Given the description of an element on the screen output the (x, y) to click on. 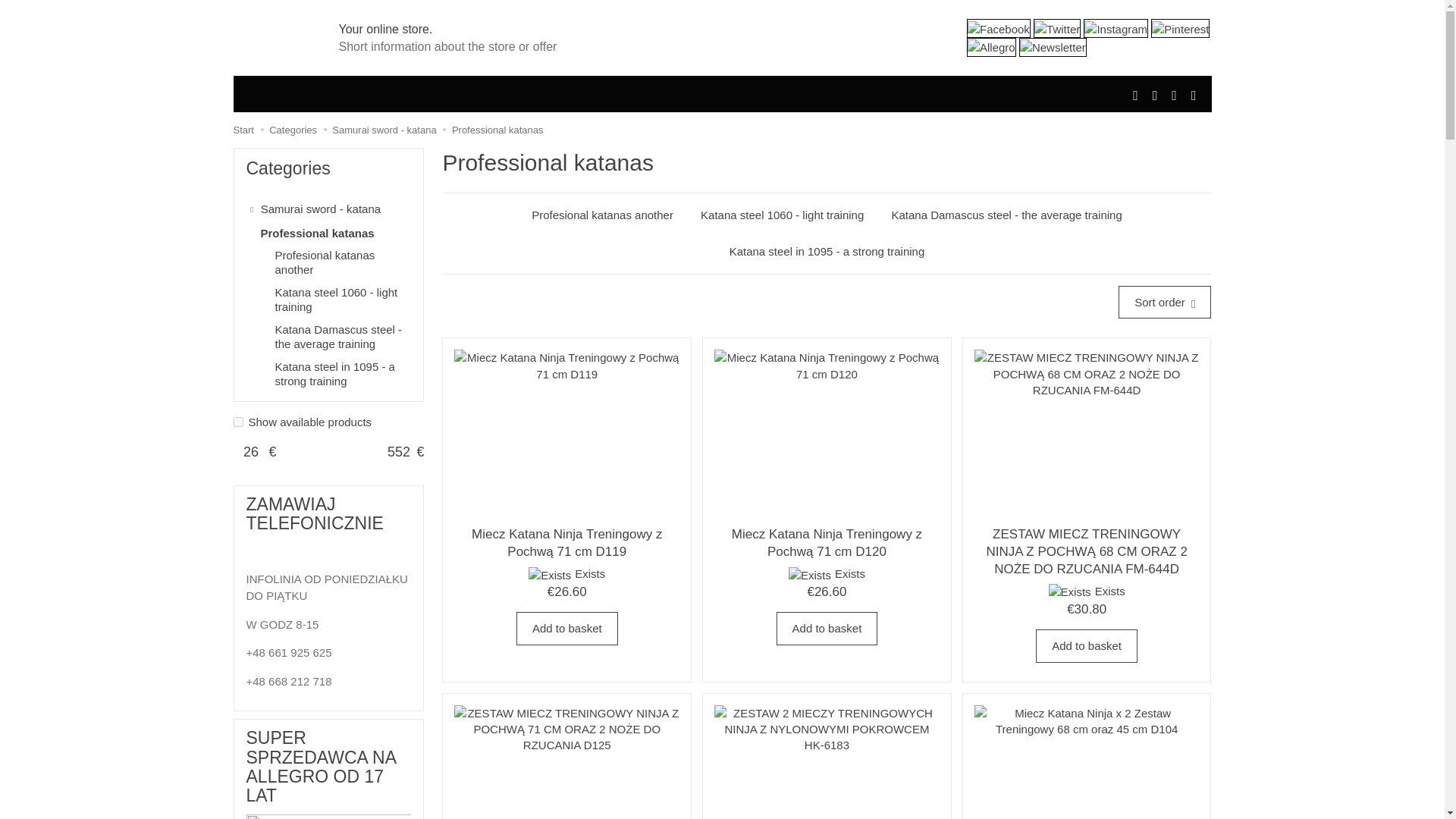
552 (398, 452)
1 (237, 421)
26 (250, 452)
